Given the description of an element on the screen output the (x, y) to click on. 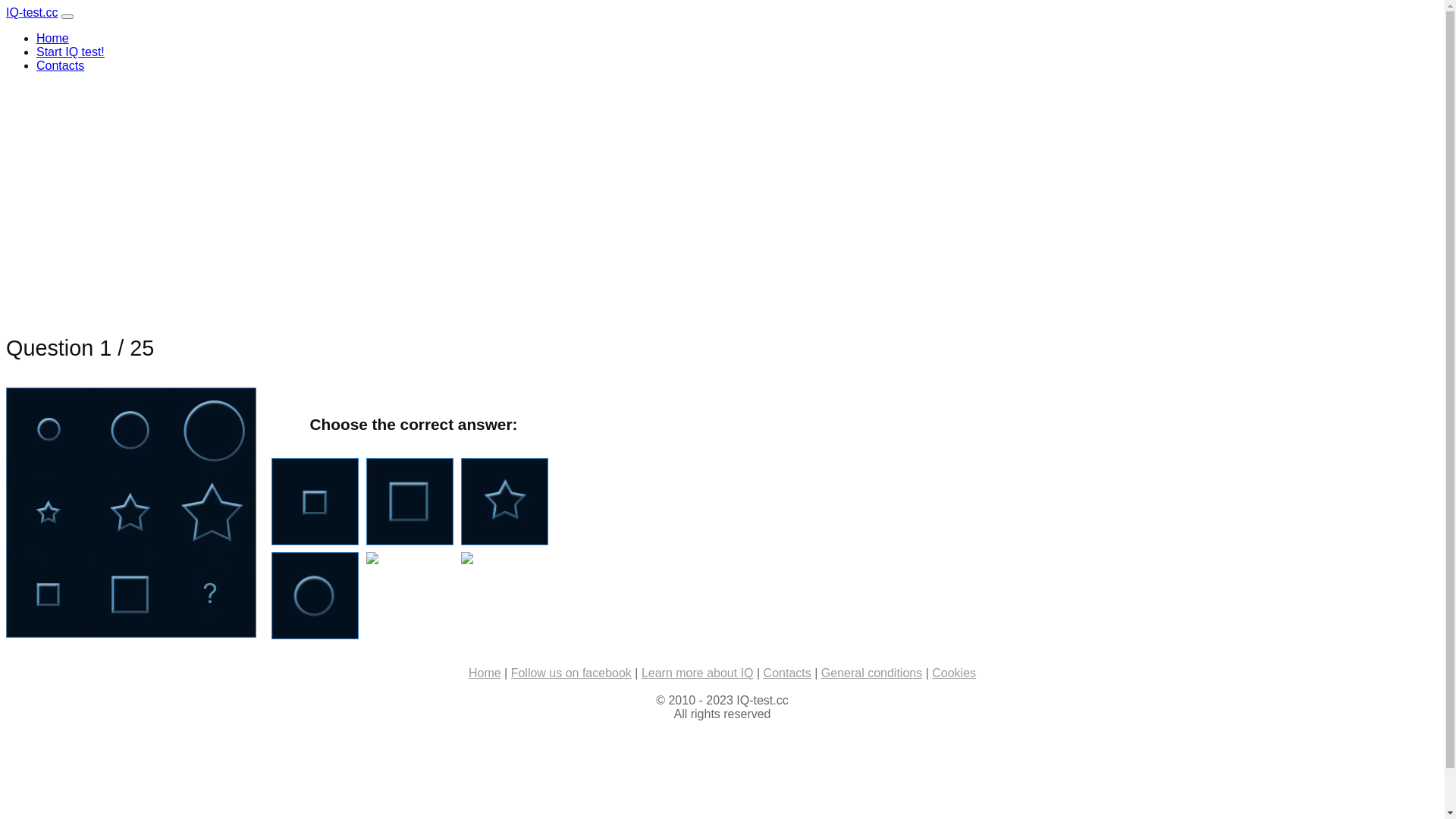
Home Element type: text (52, 37)
Contacts Element type: text (787, 672)
Contacts Element type: text (60, 65)
Follow us on facebook Element type: text (571, 672)
General conditions Element type: text (871, 672)
Start IQ test! Element type: text (70, 51)
Advertisement Element type: hover (461, 190)
Home Element type: text (484, 672)
IQ-test.cc Element type: text (31, 12)
Cookies Element type: text (953, 672)
Learn more about IQ Element type: text (697, 672)
